Given the description of an element on the screen output the (x, y) to click on. 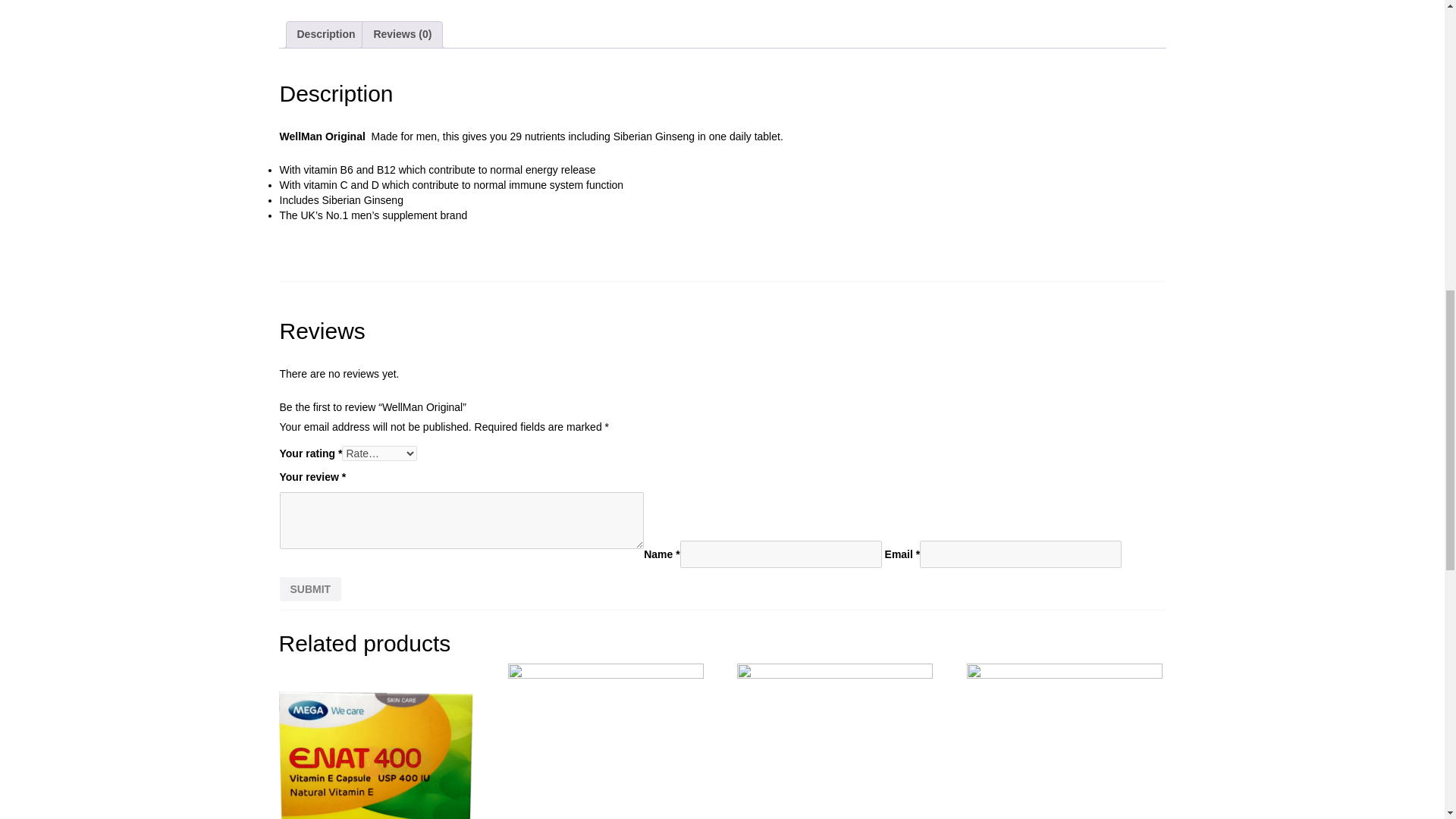
Description (326, 34)
Submit (309, 588)
